Given the description of an element on the screen output the (x, y) to click on. 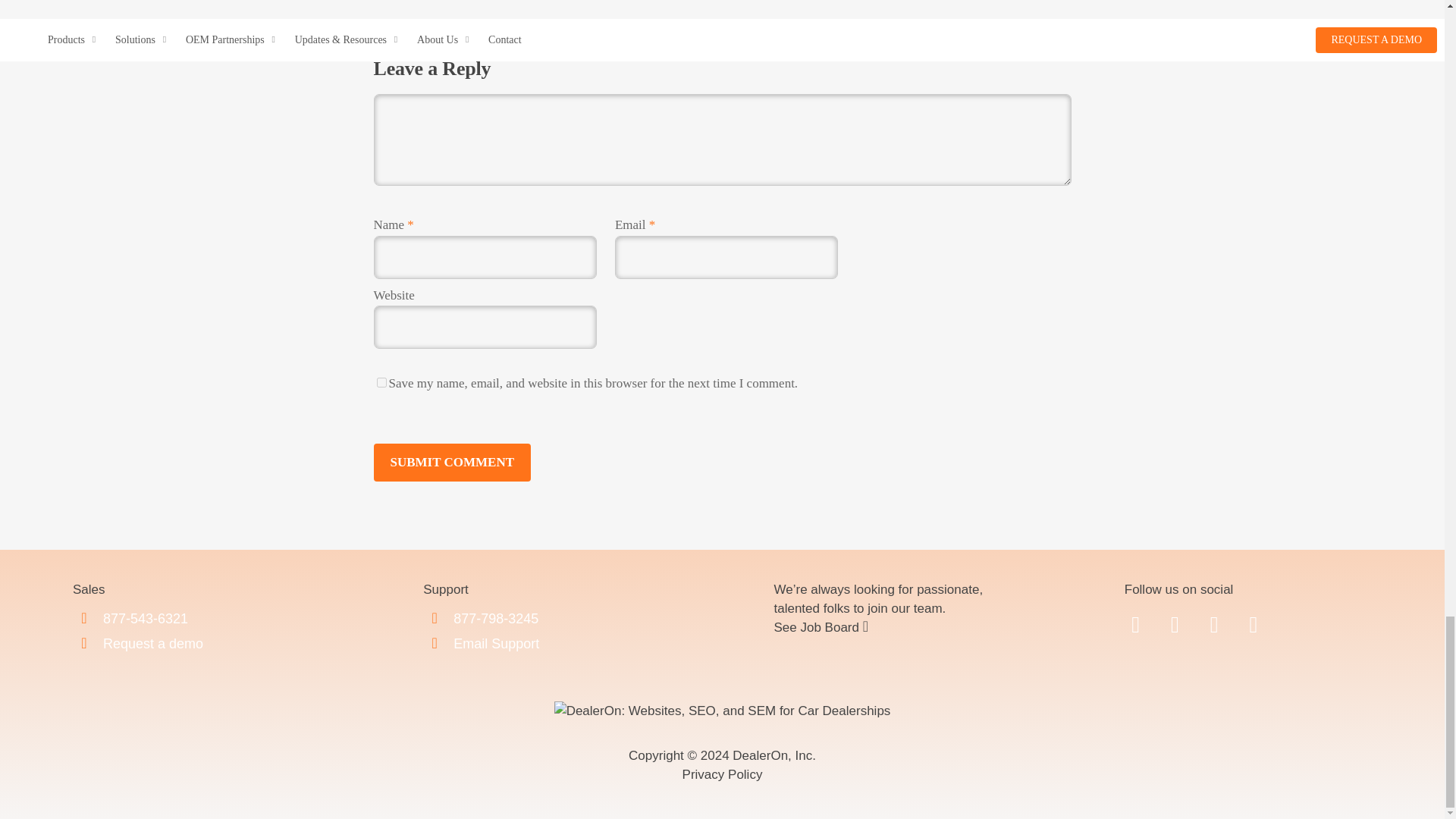
Submit Comment (451, 461)
yes (380, 382)
